Given the description of an element on the screen output the (x, y) to click on. 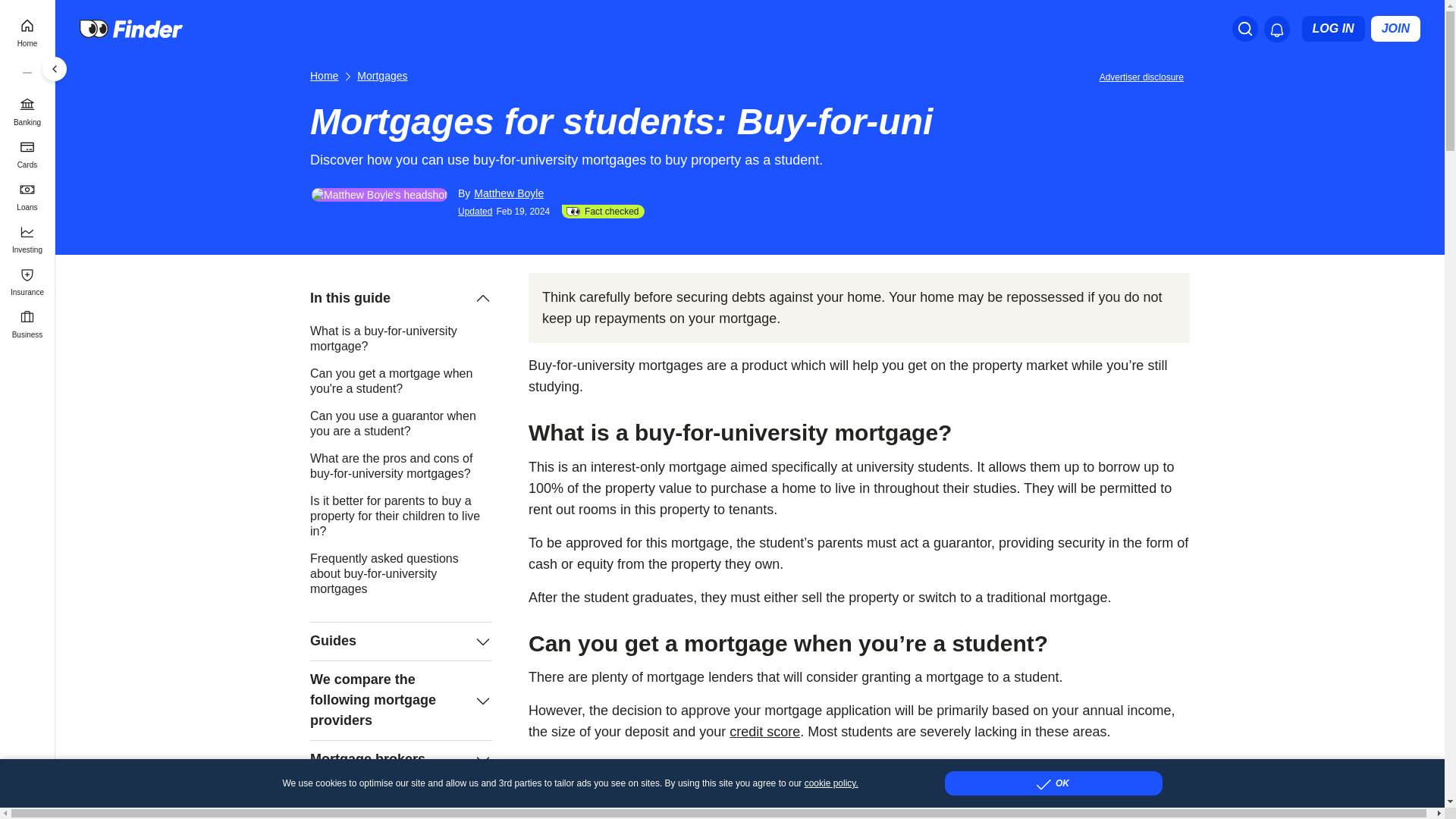
Important information about this website (1144, 76)
Back to Top (1430, 793)
